Given the description of an element on the screen output the (x, y) to click on. 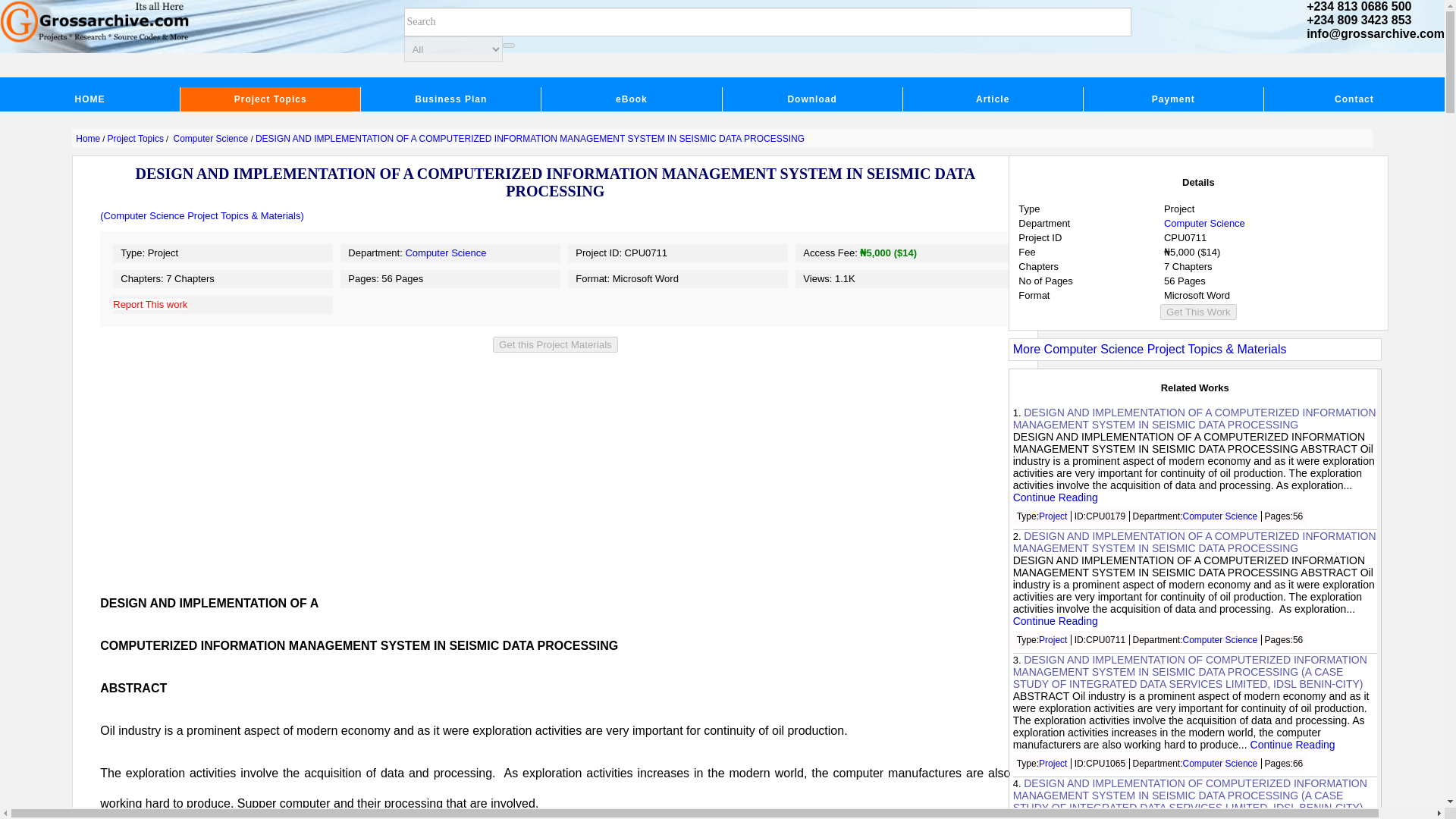
Article (992, 98)
Contact (1353, 98)
eBook (631, 98)
Project Topics (270, 98)
Download (812, 98)
HOME (90, 98)
Payment (1173, 98)
Business Plan (451, 98)
